Given the description of an element on the screen output the (x, y) to click on. 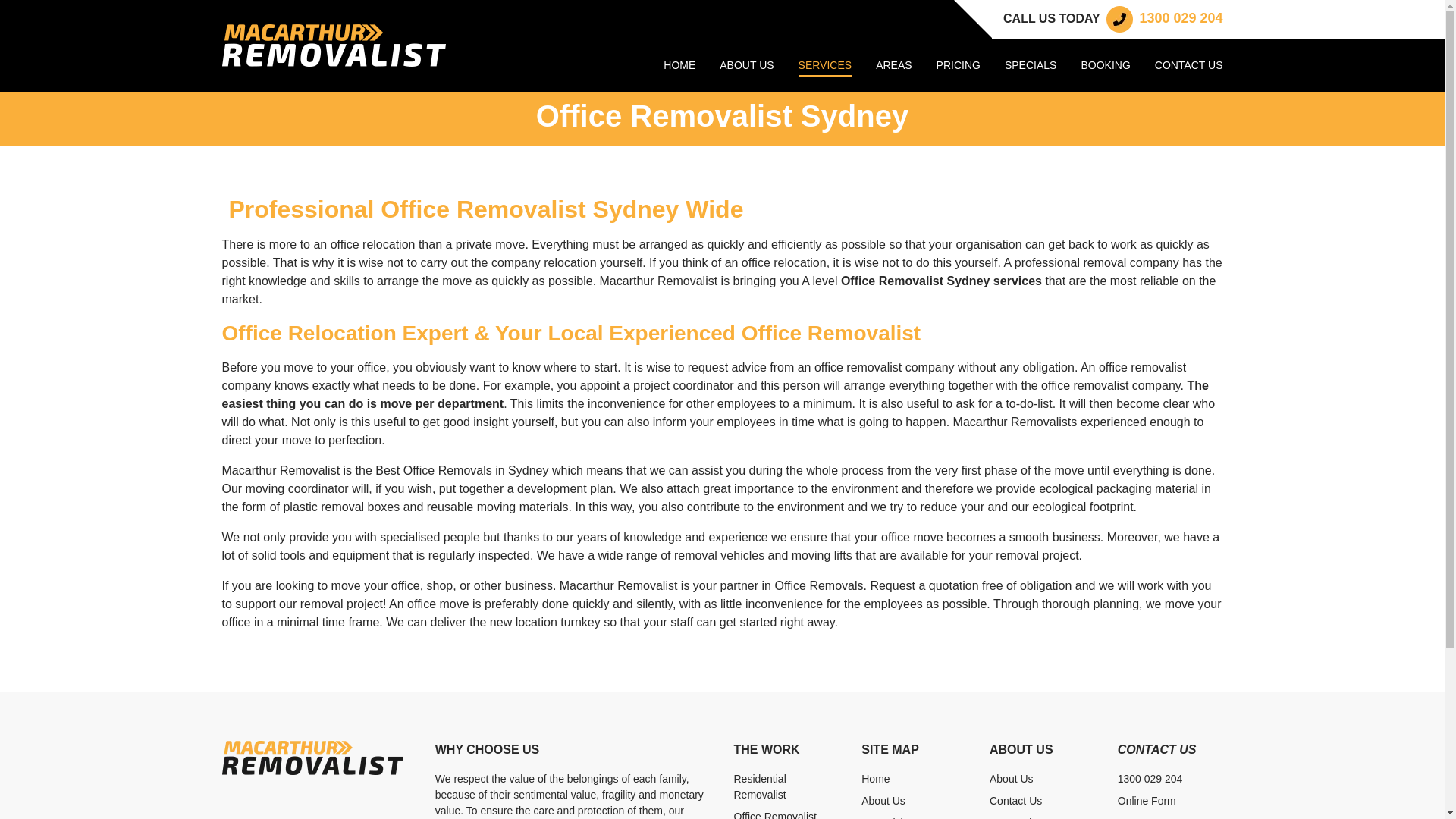
BOOKING Element type: text (1104, 66)
SPECIALS Element type: text (1030, 66)
Contact Us Element type: text (1015, 800)
1300 029 204 Element type: text (1150, 778)
PRICING Element type: text (958, 66)
CONTACT US Element type: text (1188, 66)
HOME Element type: text (679, 66)
1300 029 204 Element type: text (1163, 18)
Home Element type: text (875, 778)
About Us Element type: text (1011, 778)
ABOUT US Element type: text (746, 66)
AREAS Element type: text (893, 66)
Residential Removalist Element type: text (760, 786)
About Us Element type: text (883, 800)
SERVICES Element type: text (825, 66)
Online Form Element type: text (1146, 800)
